Given the description of an element on the screen output the (x, y) to click on. 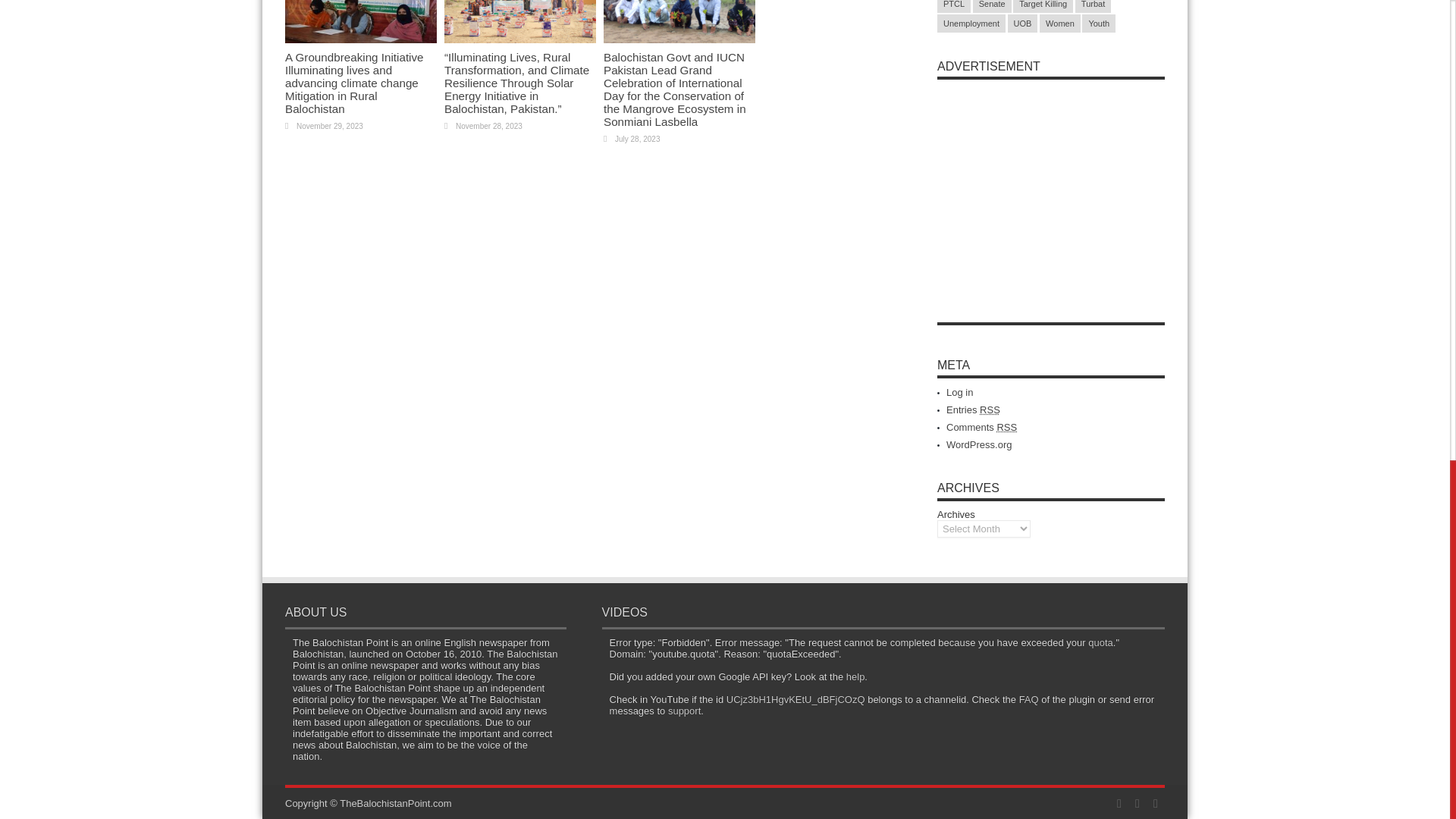
Really Simple Syndication (1005, 427)
Advertisement (1050, 181)
Really Simple Syndication (989, 409)
